Given the description of an element on the screen output the (x, y) to click on. 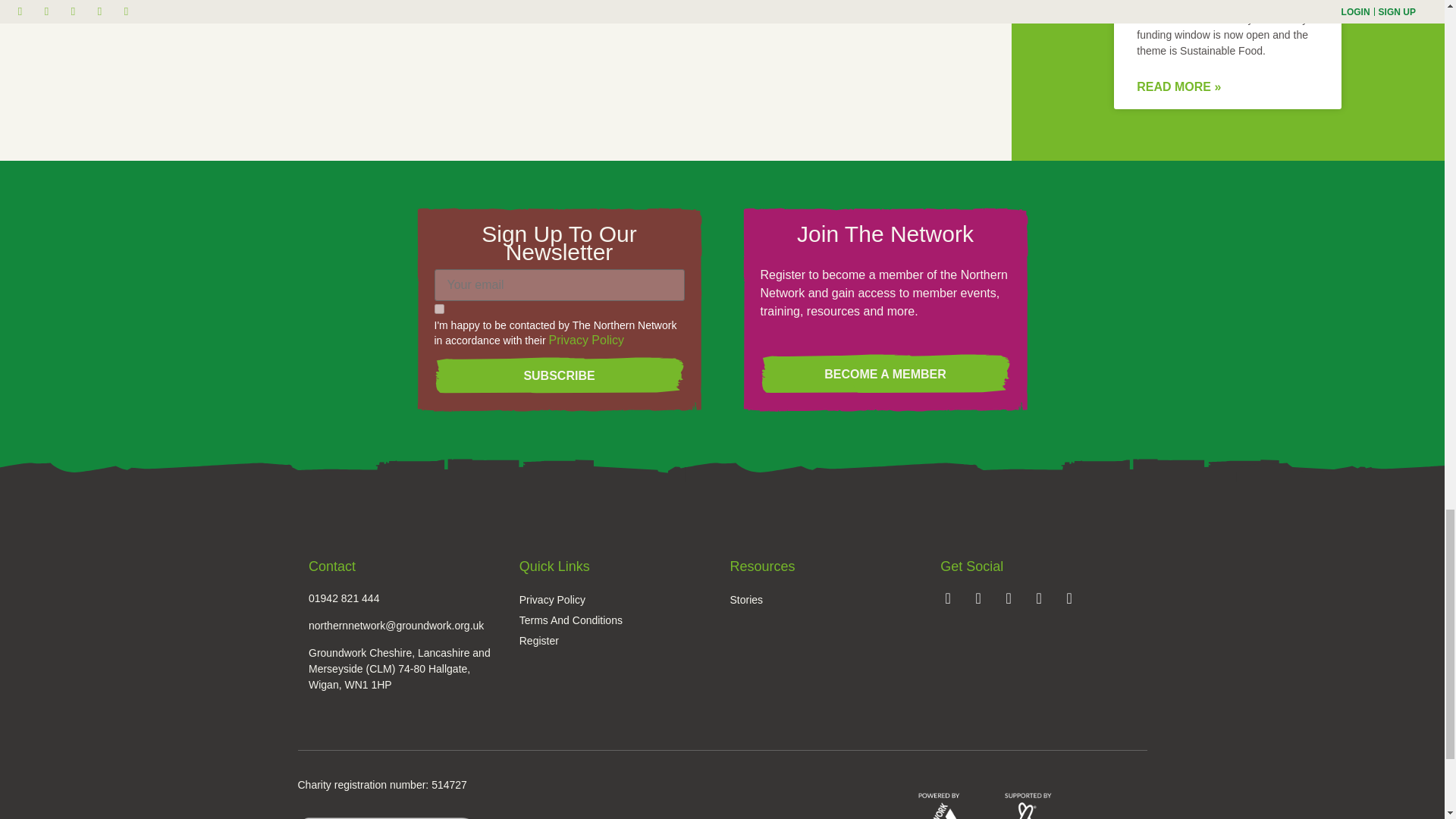
on (438, 307)
